Given the description of an element on the screen output the (x, y) to click on. 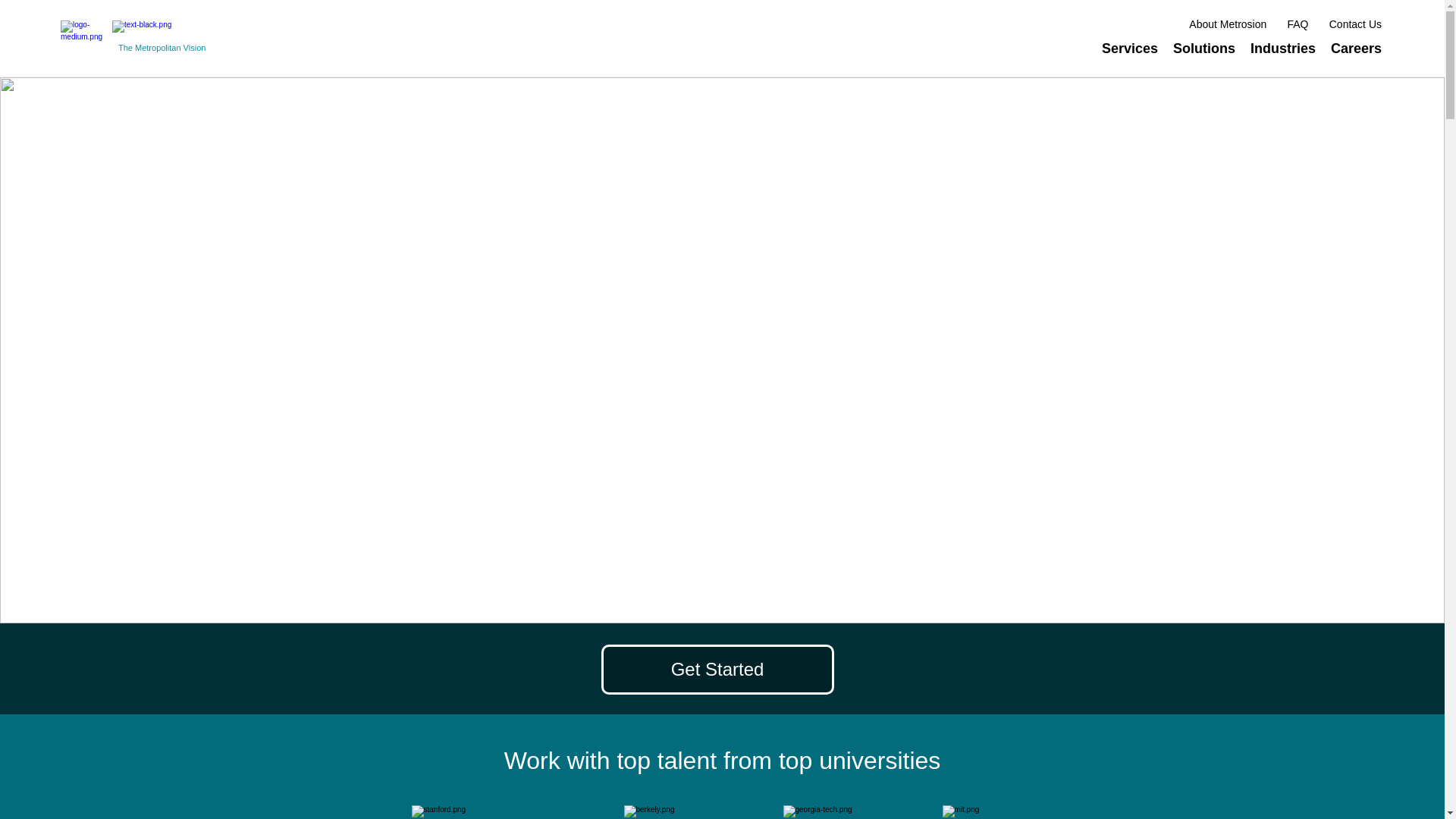
Get Started (715, 669)
Services (1130, 47)
Contact Us (1355, 24)
Solutions (1204, 47)
Careers (1356, 47)
Industries (1283, 47)
About Metrosion (1227, 24)
FAQ (1297, 24)
